Given the description of an element on the screen output the (x, y) to click on. 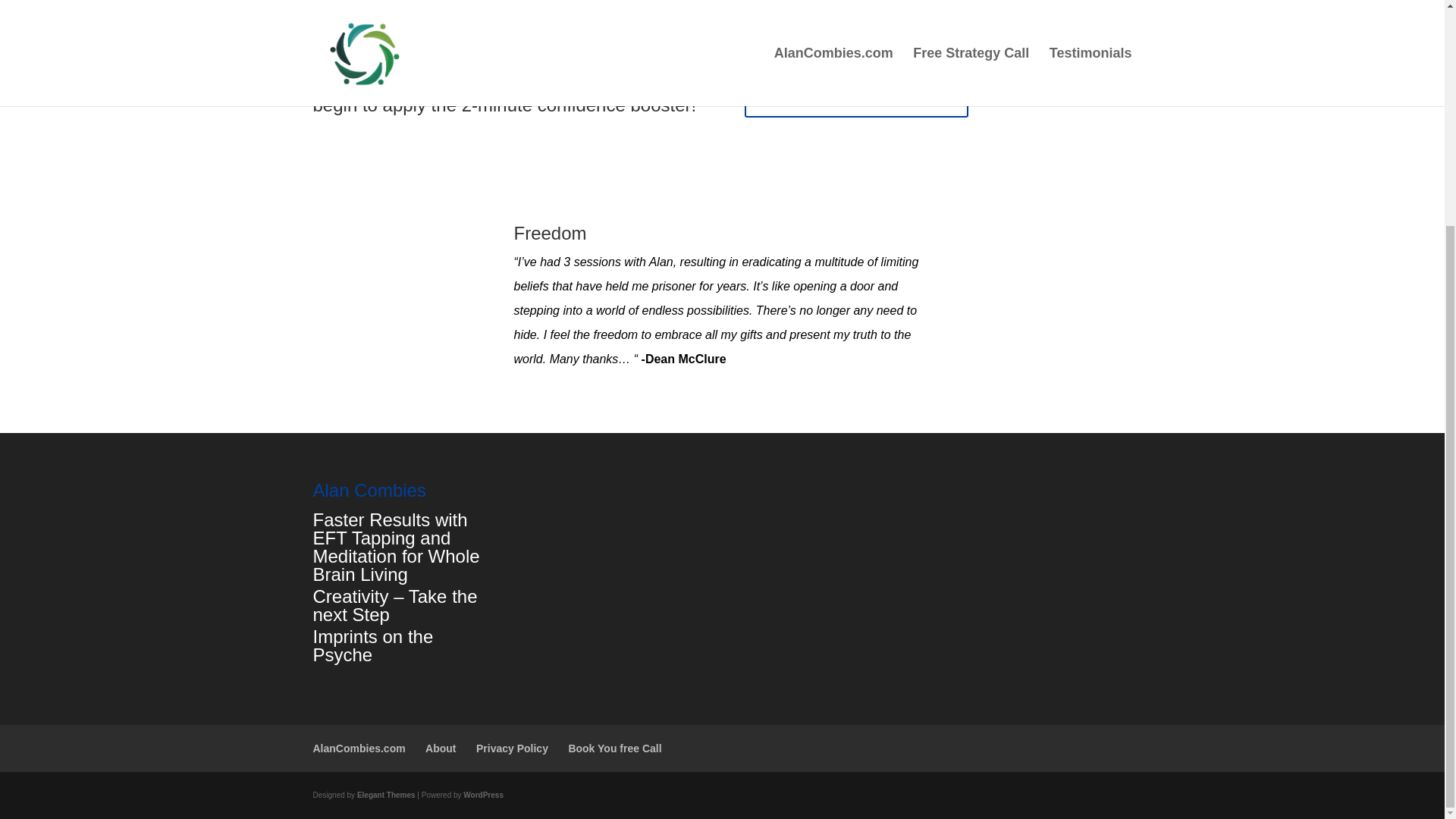
WordPress (483, 795)
Book You free Call (614, 748)
Premium WordPress Themes (385, 795)
Elegant Themes (385, 795)
About (440, 748)
Free 30 Minute Consultation (856, 98)
AlanCombies.com (358, 748)
Imprints on the Psyche (372, 645)
Privacy Policy (512, 748)
